Given the description of an element on the screen output the (x, y) to click on. 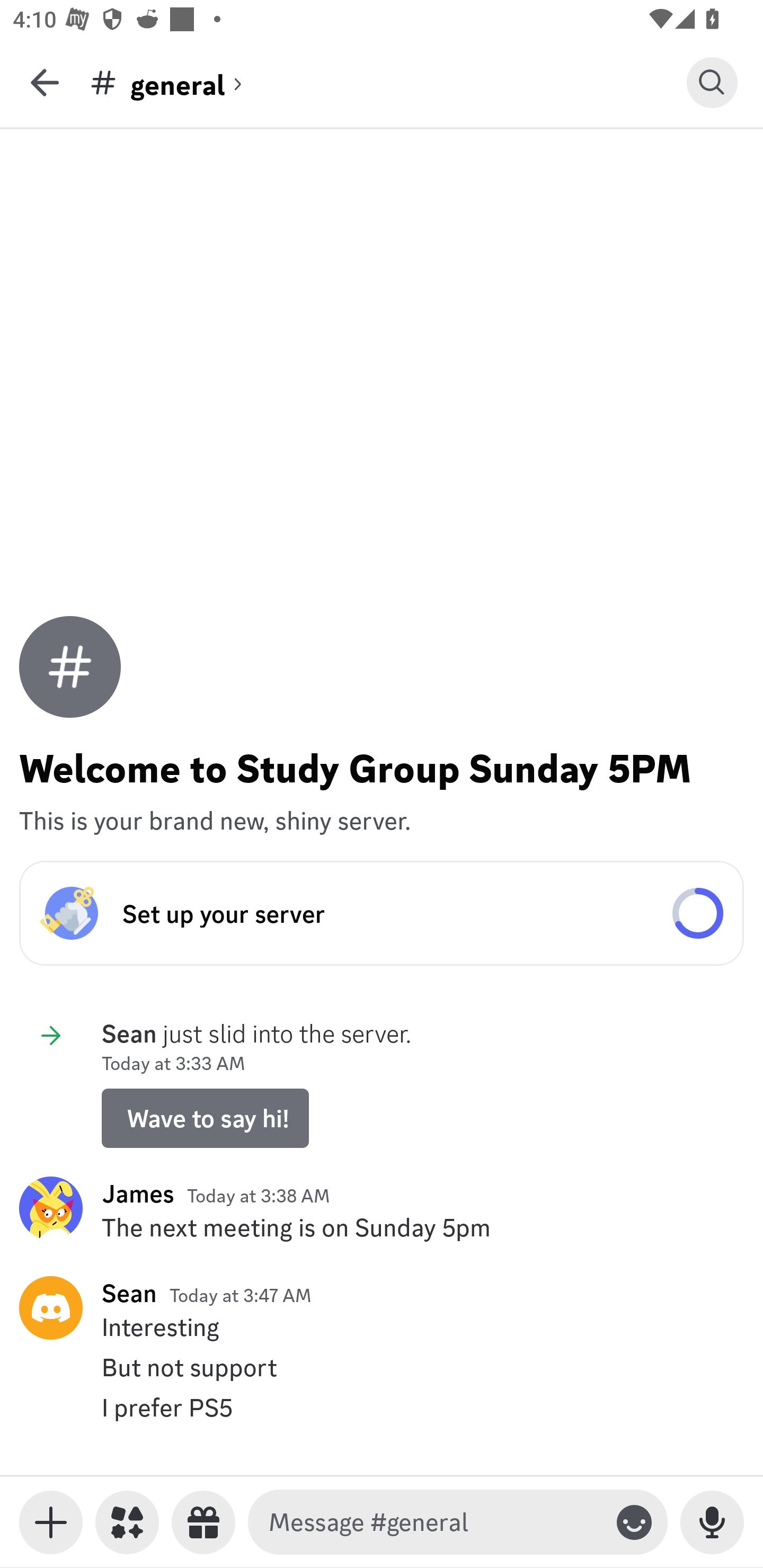
general (channel) general general (channel) (387, 82)
Back (44, 82)
Search (711, 82)
Set up your server (381, 912)
Wave to say hi! (205, 1117)
James (137, 1193)
Sean (129, 1292)
yuxiang.007, But not support But not support (381, 1366)
yuxiang.007, I prefer PS5 I prefer PS5 (381, 1406)
Message #general Toggle emoji keyboard (457, 1522)
Toggle media keyboard (50, 1522)
Apps (126, 1522)
Send a gift (203, 1522)
Record Voice Message (711, 1522)
Toggle emoji keyboard (634, 1522)
